Given the description of an element on the screen output the (x, y) to click on. 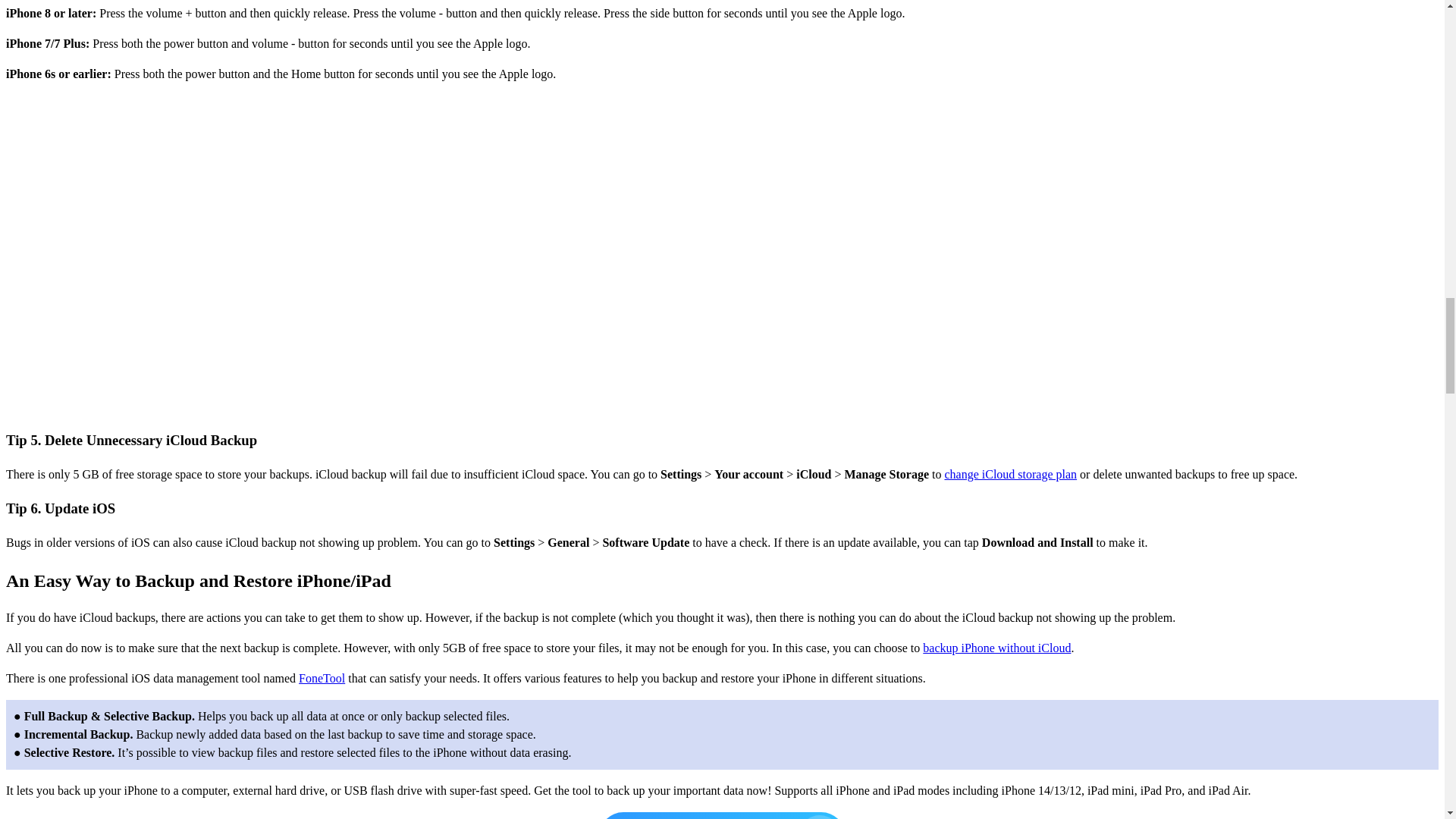
FoneTool (321, 677)
change iCloud storage plan (1010, 473)
backup iPhone without iCloud (996, 647)
